Given the description of an element on the screen output the (x, y) to click on. 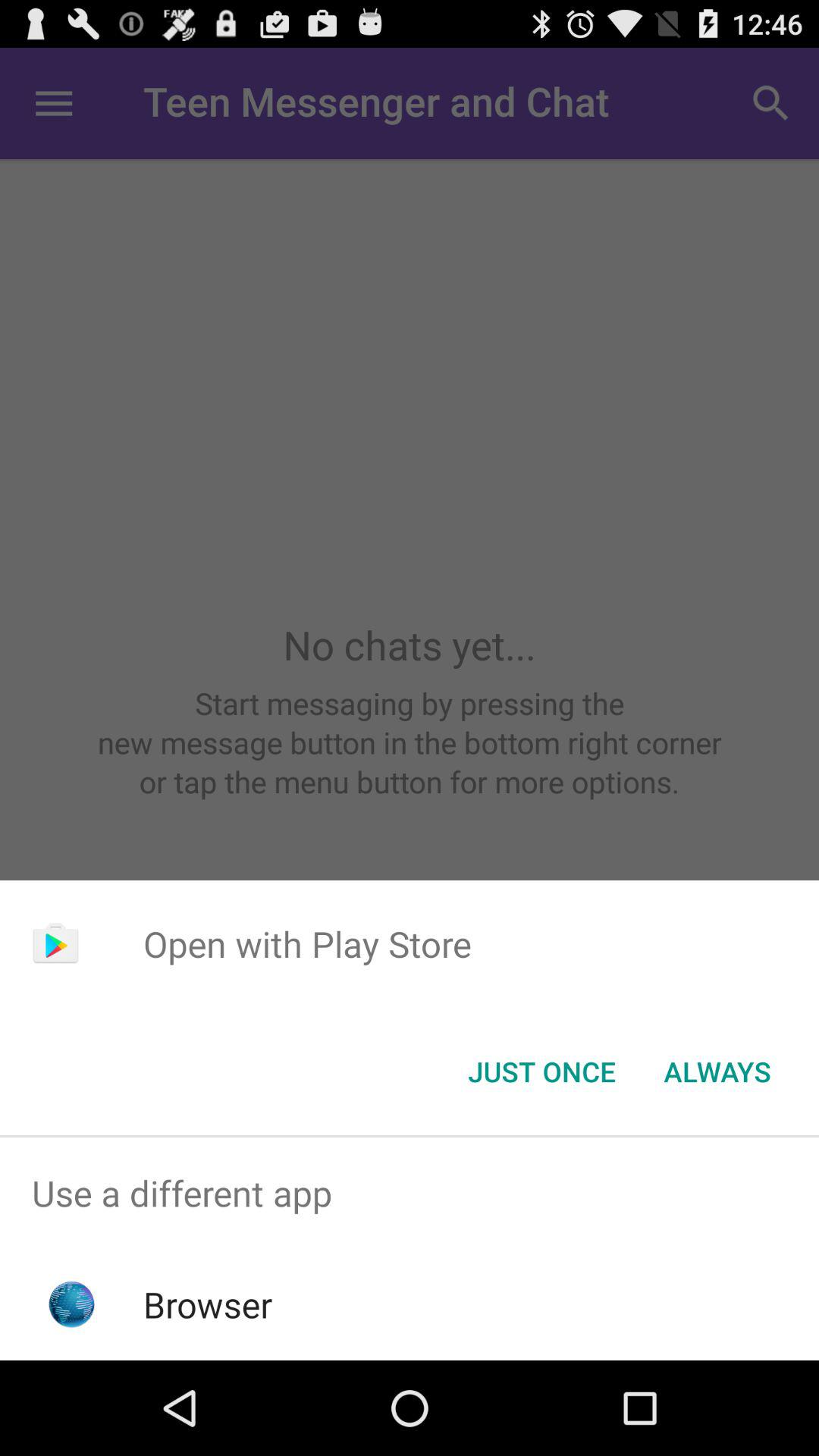
press the item at the bottom right corner (717, 1071)
